Given the description of an element on the screen output the (x, y) to click on. 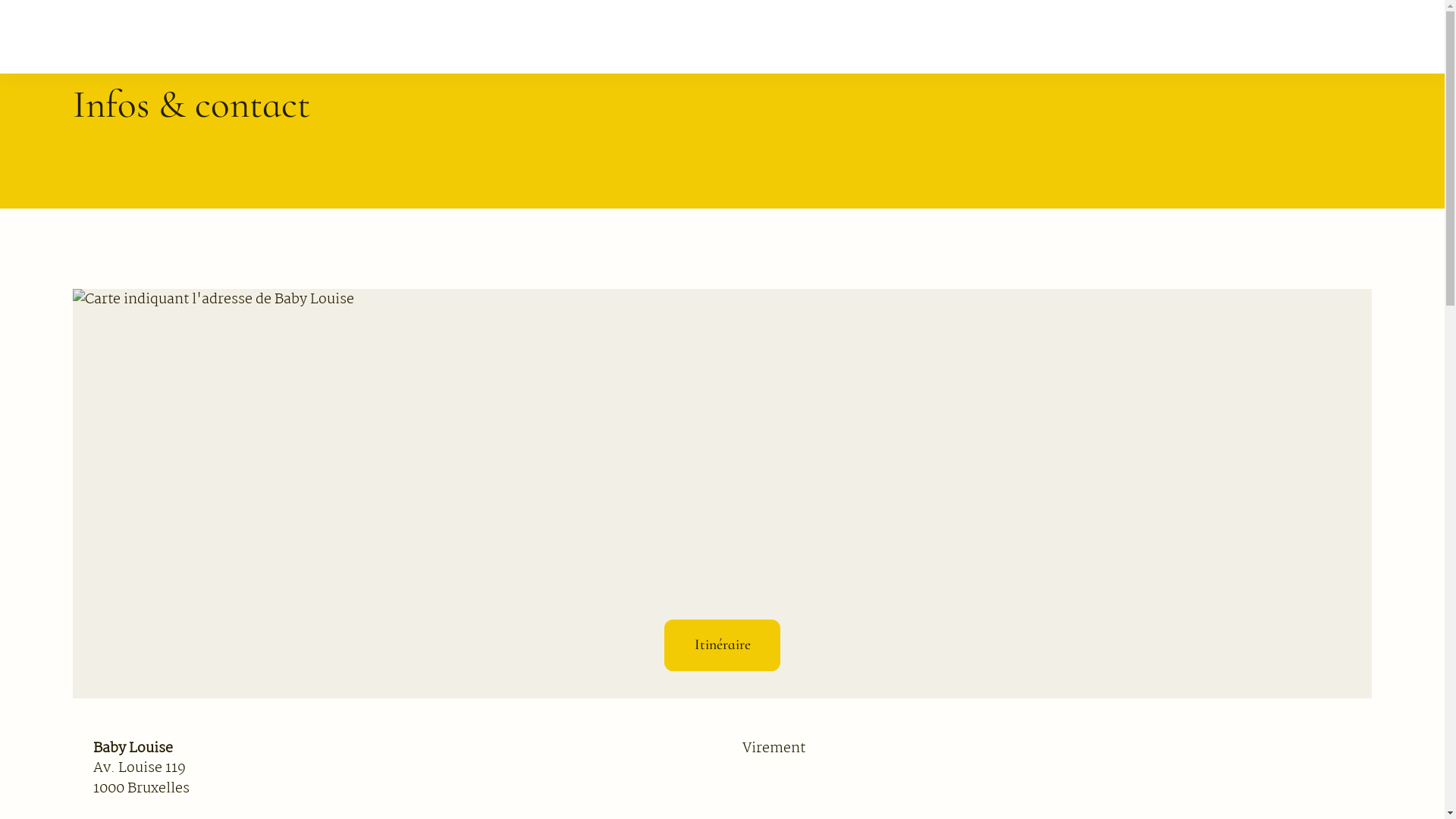
BABY LOUISE Element type: text (721, 36)
Carte indiquant l'adresse de Baby Louise Element type: hover (721, 493)
